Given the description of an element on the screen output the (x, y) to click on. 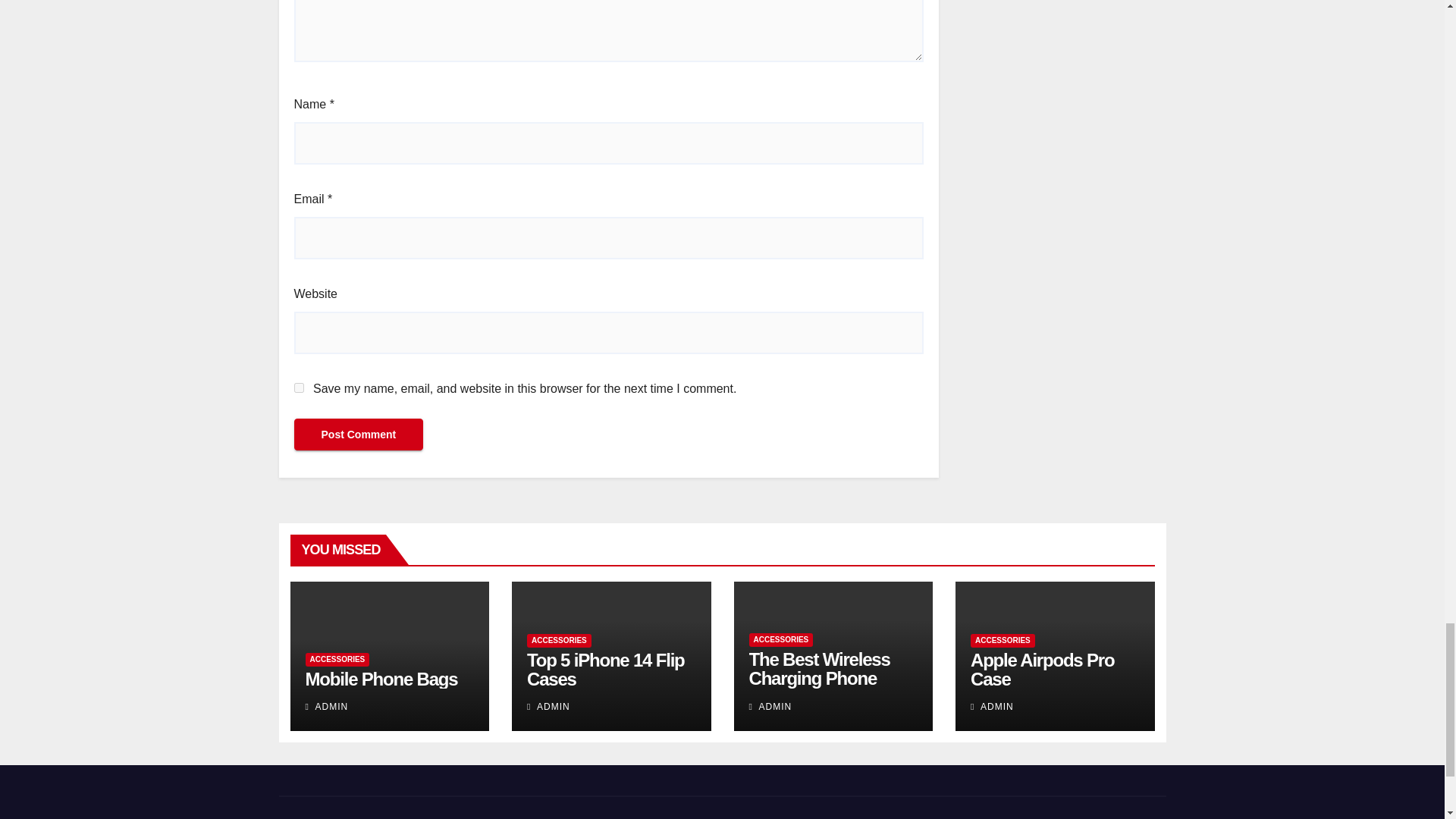
yes (299, 388)
Permalink to: Mobile Phone Bags (380, 679)
Post Comment (358, 434)
Post Comment (358, 434)
